Given the description of an element on the screen output the (x, y) to click on. 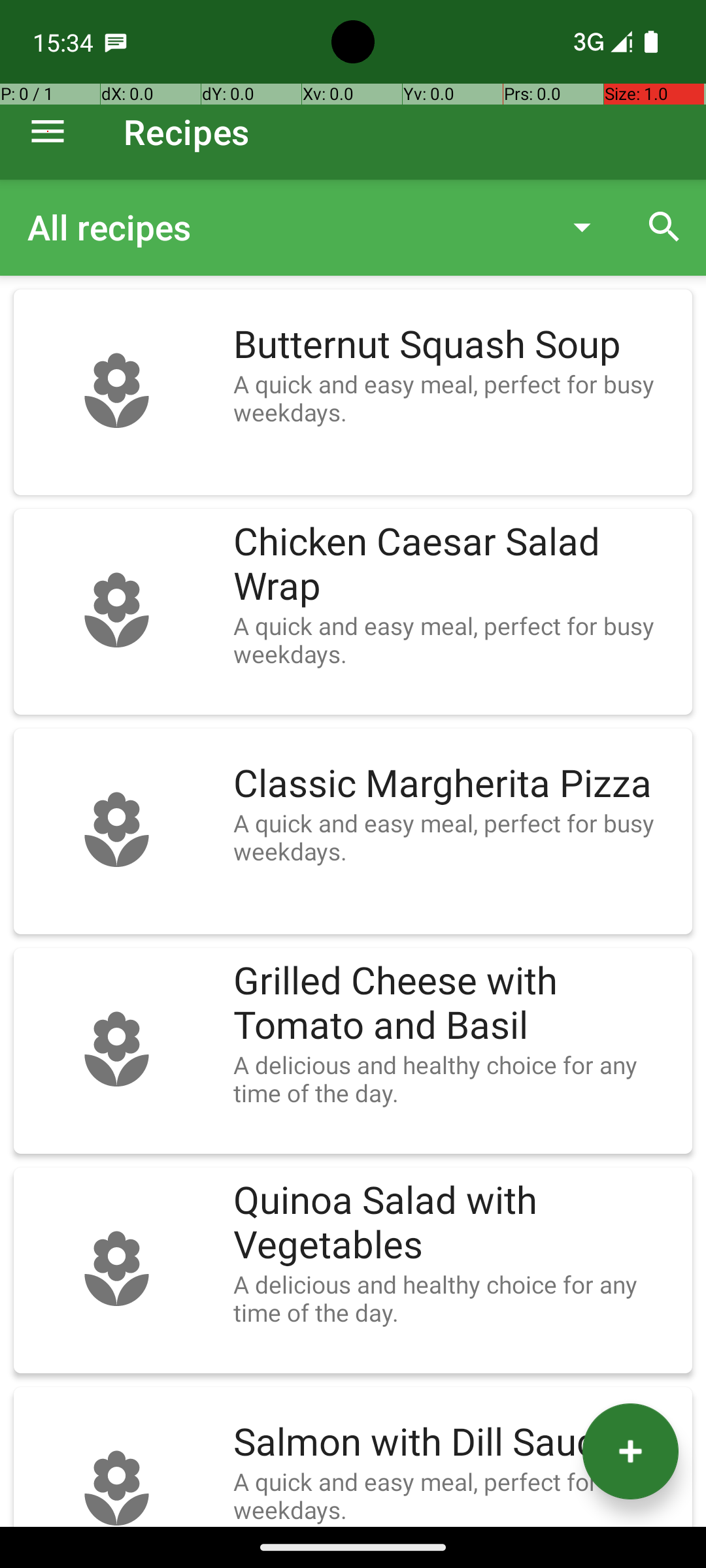
Chicken Caesar Salad Wrap Element type: android.widget.TextView (455, 564)
Classic Margherita Pizza Element type: android.widget.TextView (455, 783)
Grilled Cheese with Tomato and Basil Element type: android.widget.TextView (455, 1003)
Quinoa Salad with Vegetables Element type: android.widget.TextView (455, 1222)
Salmon with Dill Sauce Element type: android.widget.TextView (455, 1442)
